Given the description of an element on the screen output the (x, y) to click on. 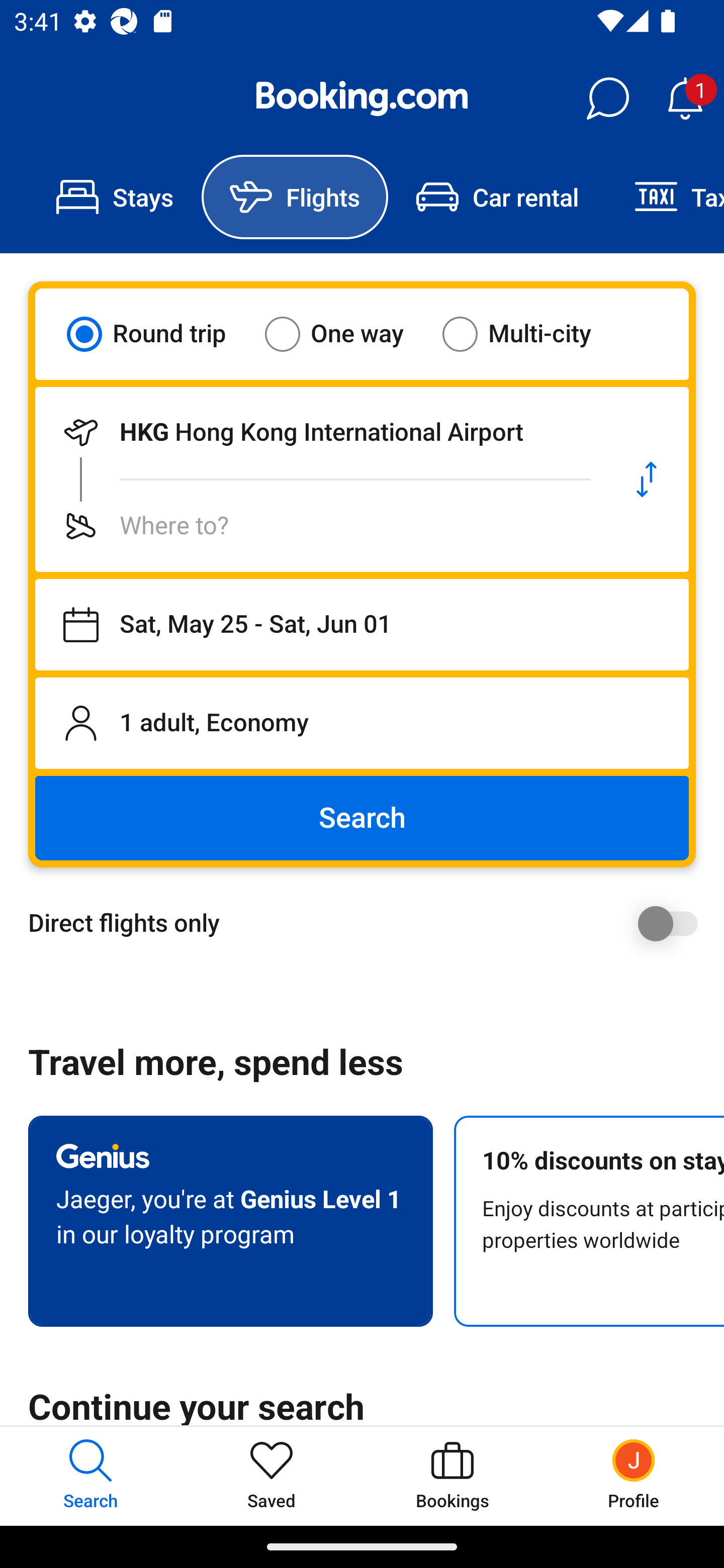
Messages (607, 98)
Notifications (685, 98)
Stays (114, 197)
Flights (294, 197)
Car rental (497, 197)
Taxi (665, 197)
One way (346, 333)
Multi-city (528, 333)
Departing from HKG Hong Kong International Airport (319, 432)
Swap departure location and destination (646, 479)
Flying to  (319, 525)
Departing on Sat, May 25, returning on Sat, Jun 01 (361, 624)
1 adult, Economy (361, 722)
Search (361, 818)
Direct flights only (369, 923)
Saved (271, 1475)
Bookings (452, 1475)
Profile (633, 1475)
